Given the description of an element on the screen output the (x, y) to click on. 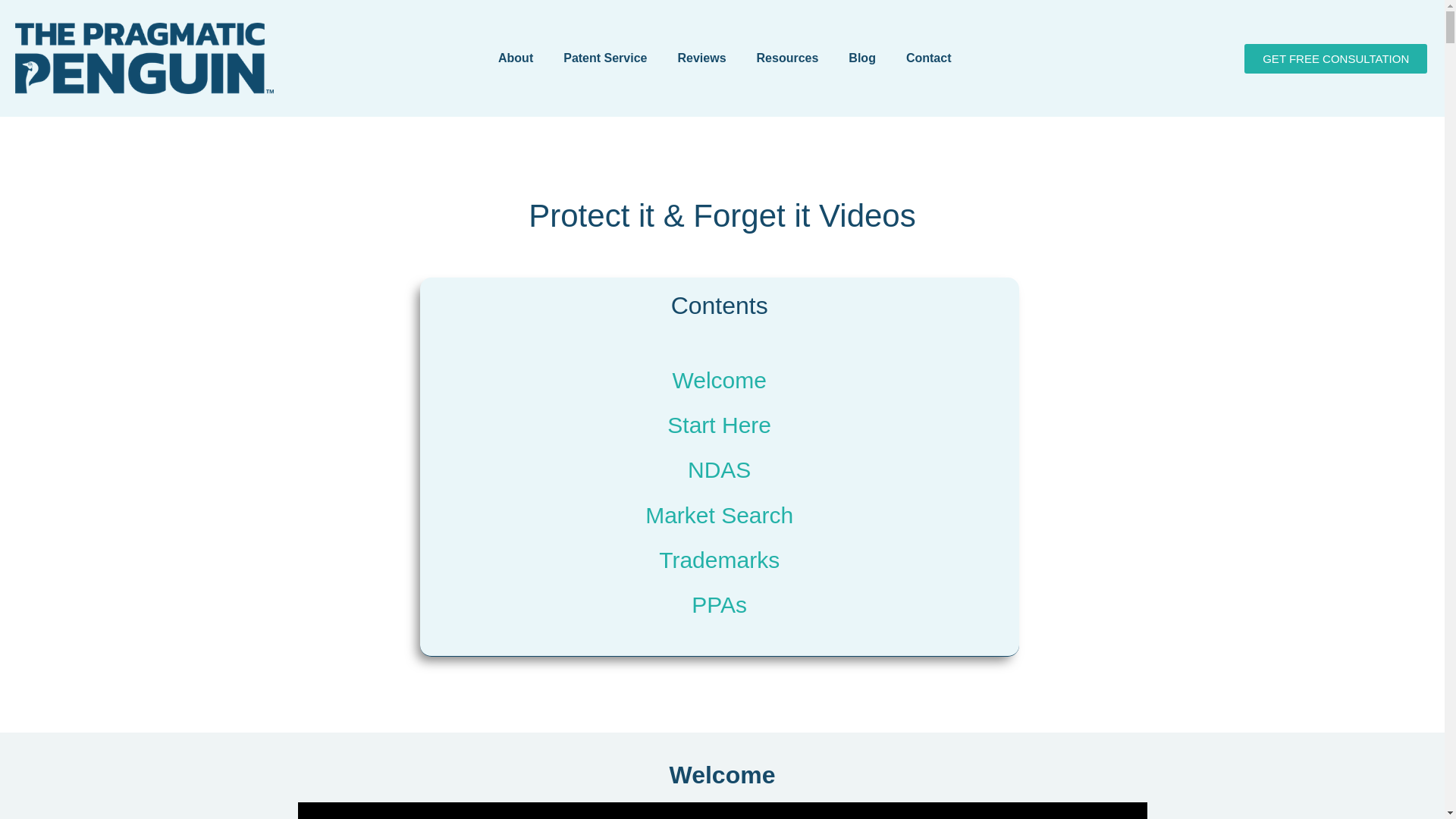
Blog (861, 58)
Resources (787, 58)
vimeo Video Player (722, 810)
About (515, 58)
Patent Service (605, 58)
GET FREE CONSULTATION (1335, 58)
Reviews (701, 58)
Contact (928, 58)
